Given the description of an element on the screen output the (x, y) to click on. 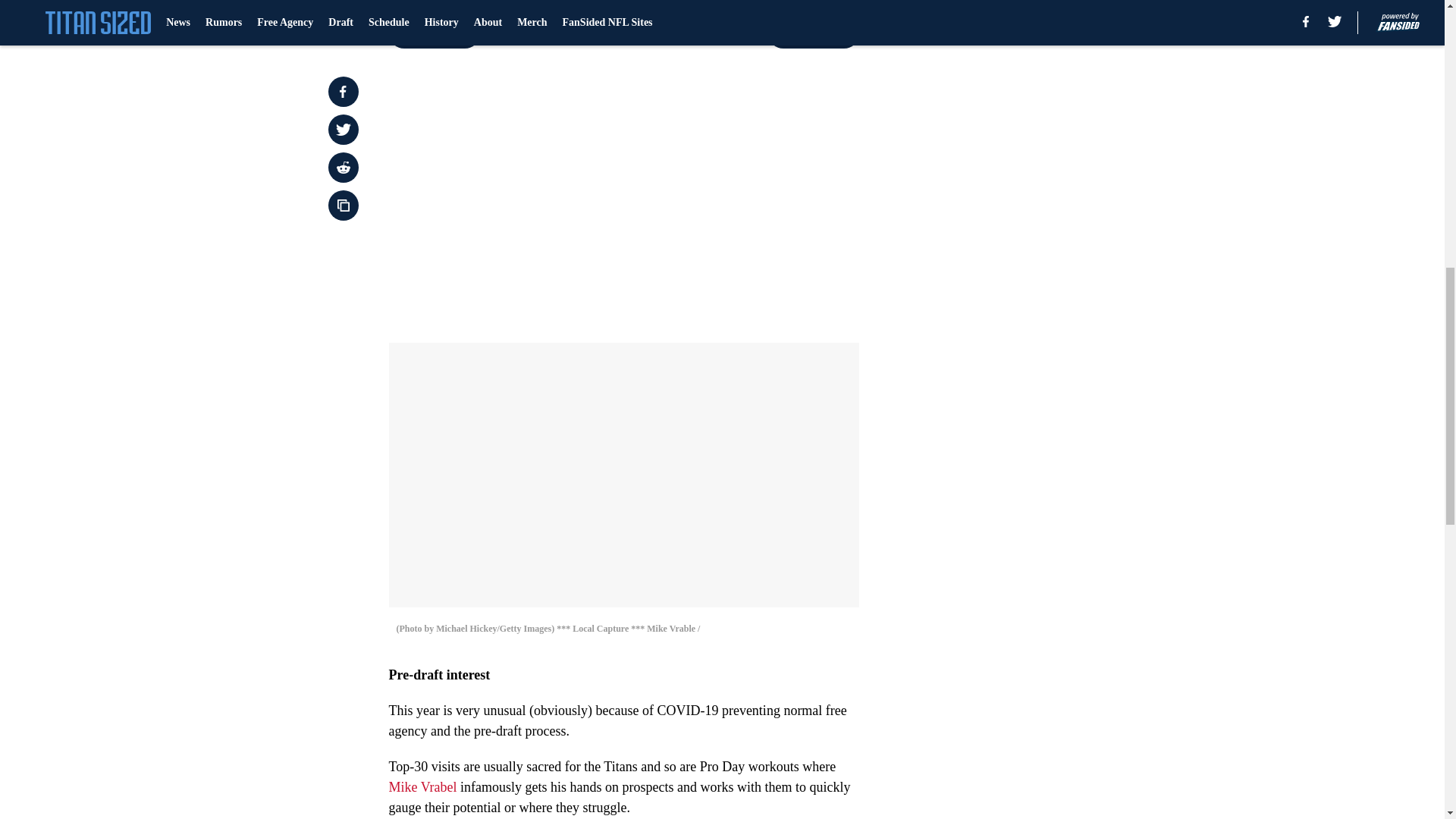
Mike Vrabel (422, 786)
Prev (433, 33)
Next (813, 33)
